Given the description of an element on the screen output the (x, y) to click on. 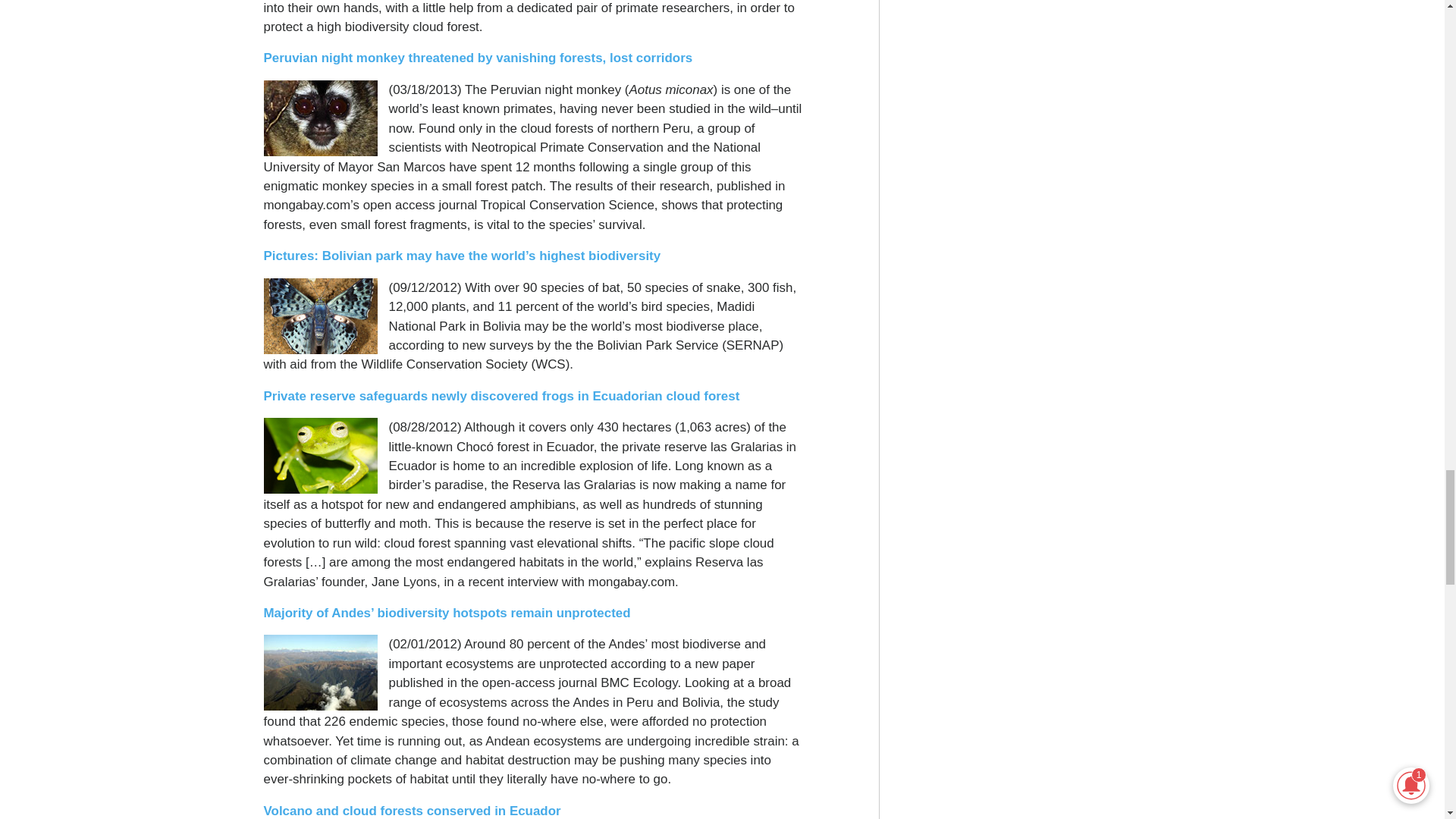
Volcano and cloud forests conserved in Ecuador (411, 810)
